Given the description of an element on the screen output the (x, y) to click on. 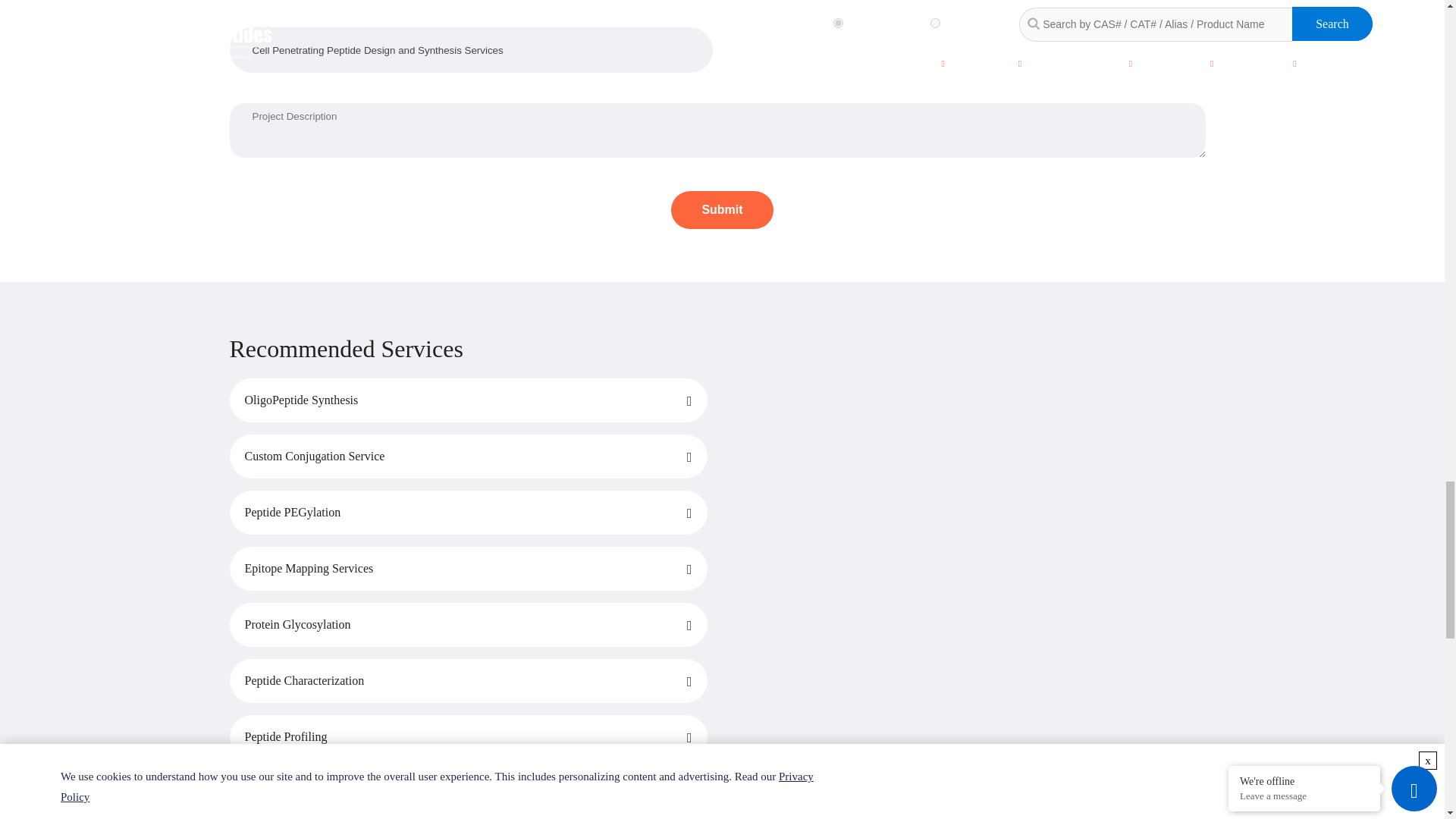
Cell Penetrating Peptide Design and Synthesis Services (469, 49)
